Given the description of an element on the screen output the (x, y) to click on. 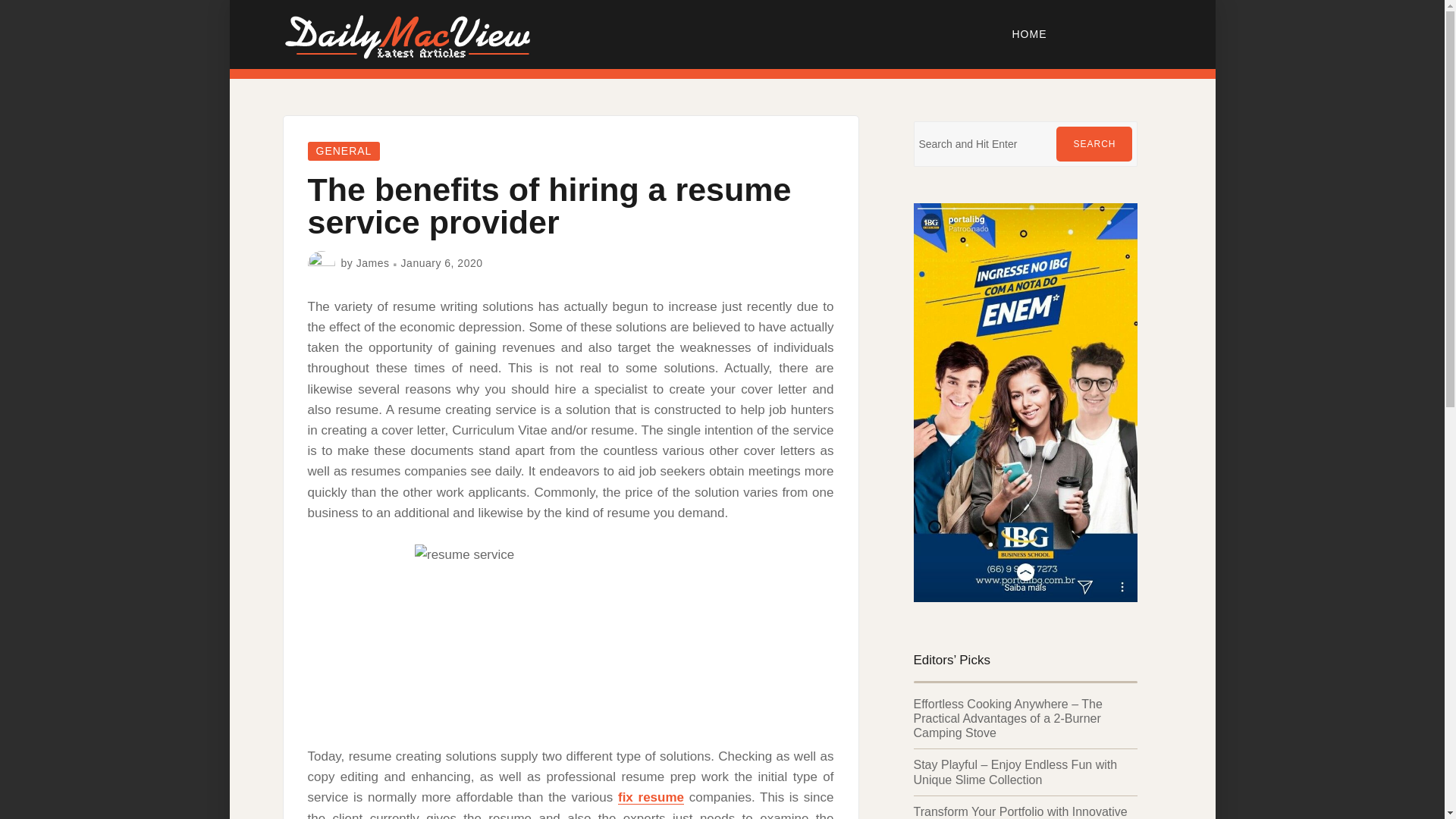
January 6, 2020 (442, 263)
fix resume (650, 797)
GENERAL (343, 150)
James (373, 263)
HOME (1030, 33)
SEARCH (1094, 143)
